Given the description of an element on the screen output the (x, y) to click on. 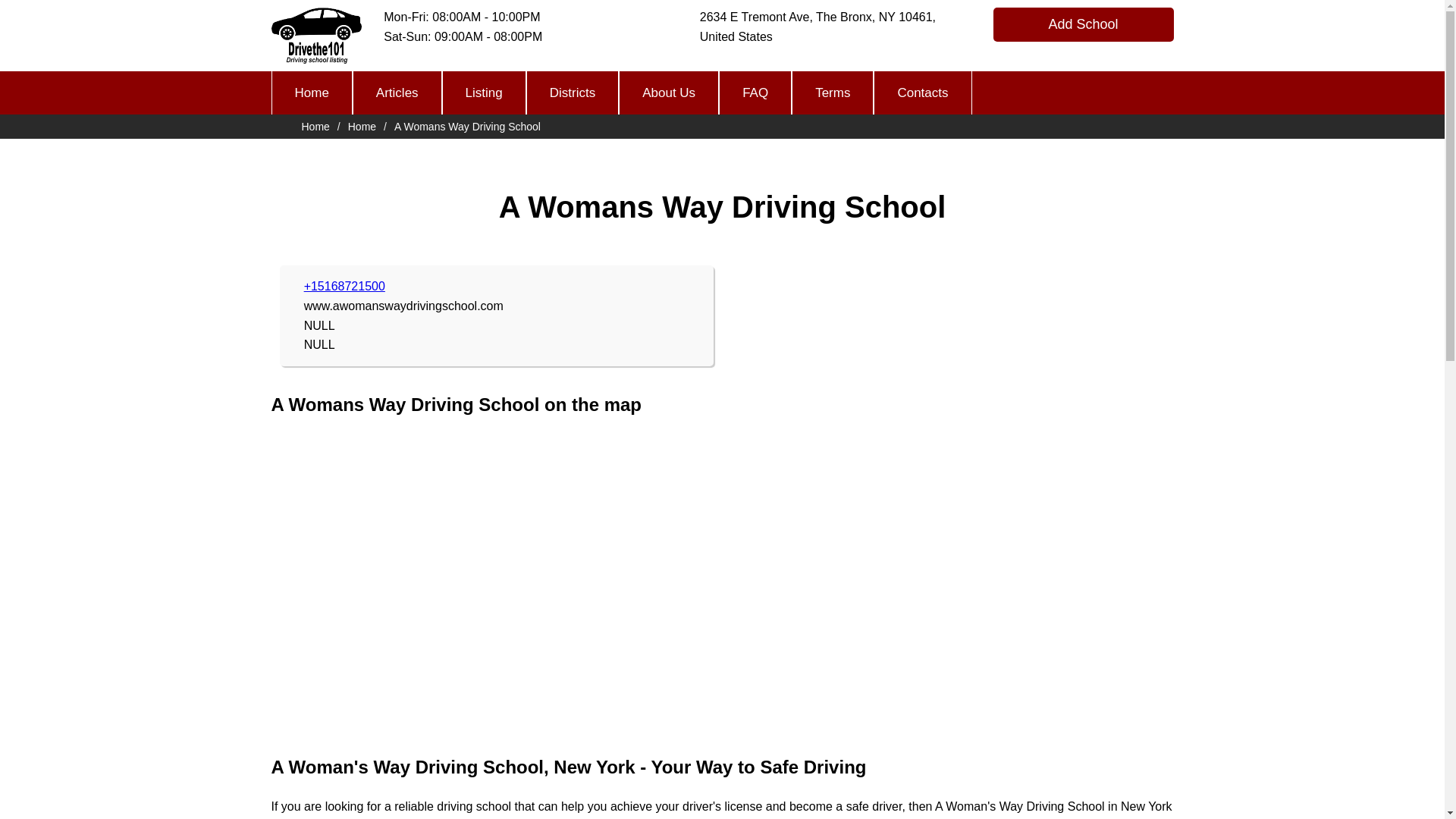
About Us (668, 92)
Districts (571, 92)
Contacts (922, 92)
Home (311, 92)
Listing (483, 92)
Articles (397, 92)
Terms (832, 92)
Home (361, 126)
Home (315, 126)
FAQ (755, 92)
